Given the description of an element on the screen output the (x, y) to click on. 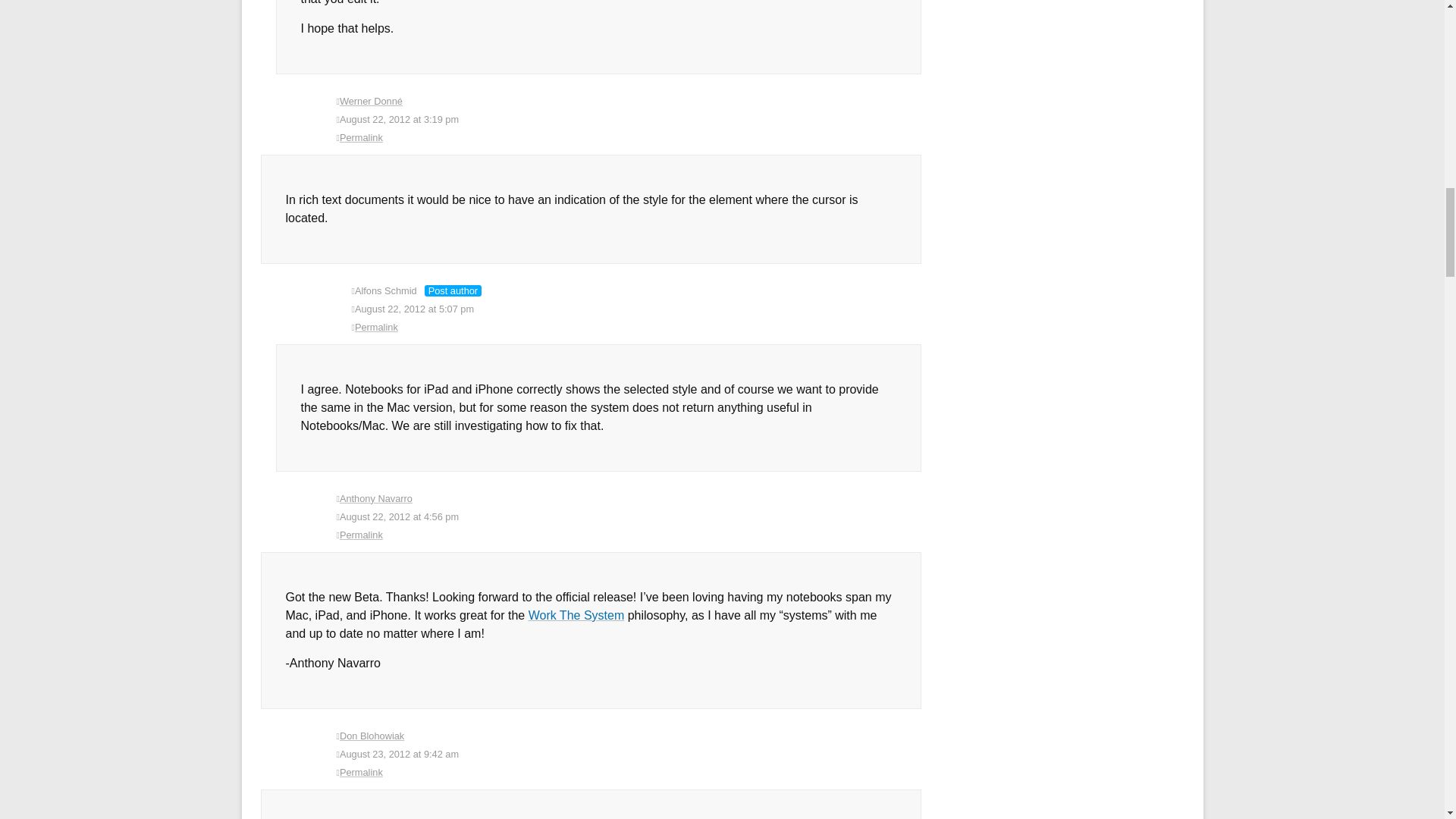
Anthony Navarro (375, 498)
Permalink (628, 535)
Permalink (628, 137)
Don Blohowiak (371, 736)
Permalink (628, 772)
Permalink (636, 327)
Work The System (576, 615)
